Given the description of an element on the screen output the (x, y) to click on. 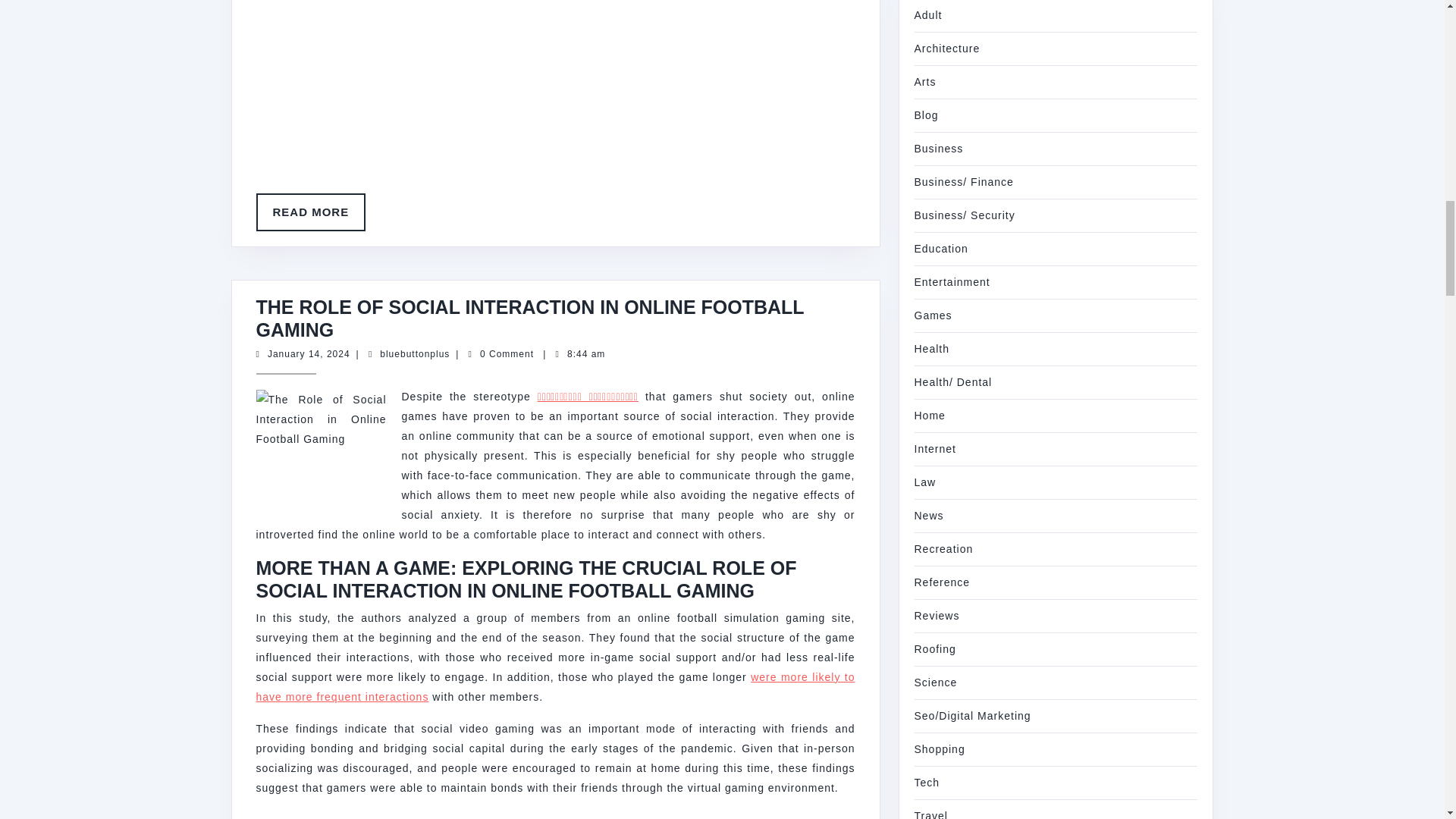
The Role of Social Interaction in Online Football Gaming (311, 212)
were more likely to have more frequent interactions (308, 353)
